Given the description of an element on the screen output the (x, y) to click on. 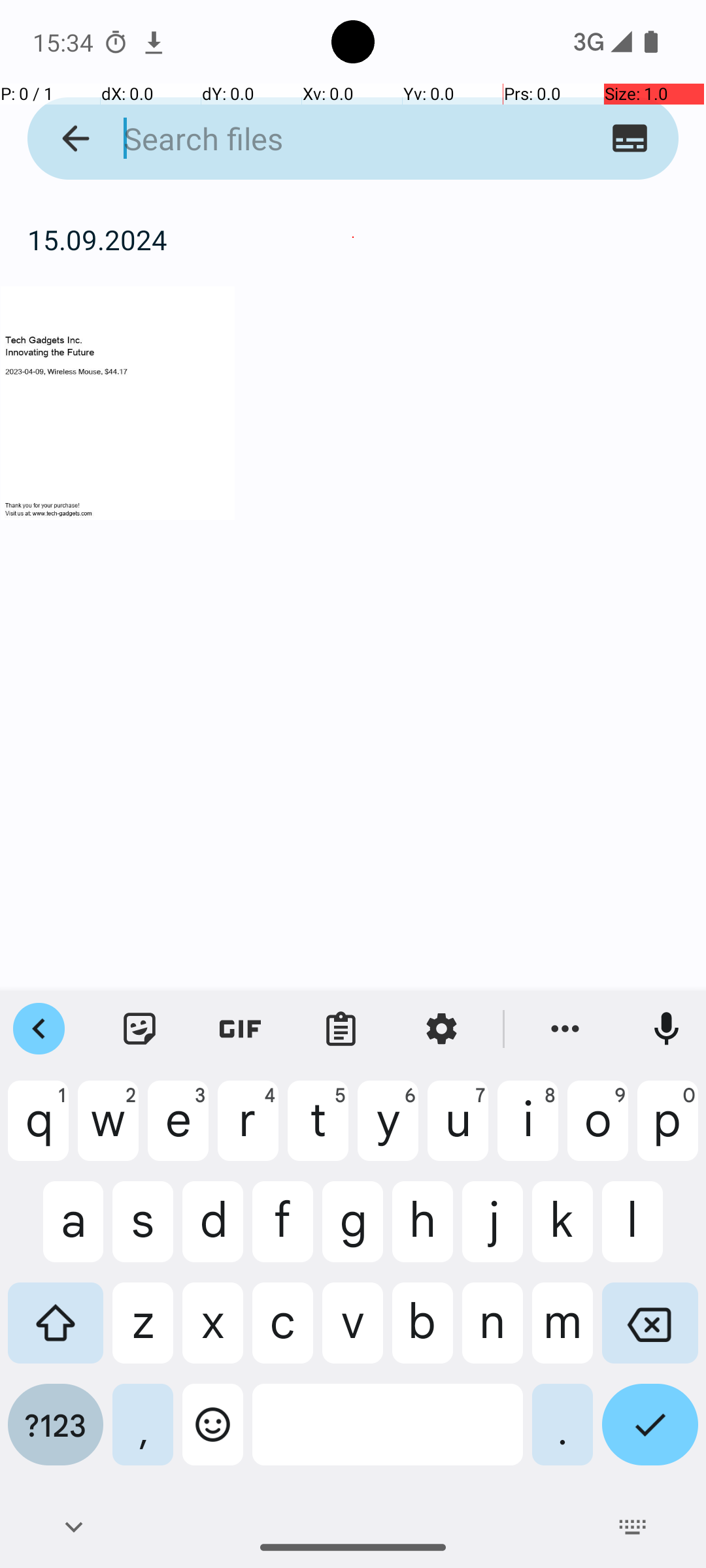
Search files Element type: android.widget.EditText (328, 138)
15.09.2024 Element type: android.widget.TextView (353, 239)
